Given the description of an element on the screen output the (x, y) to click on. 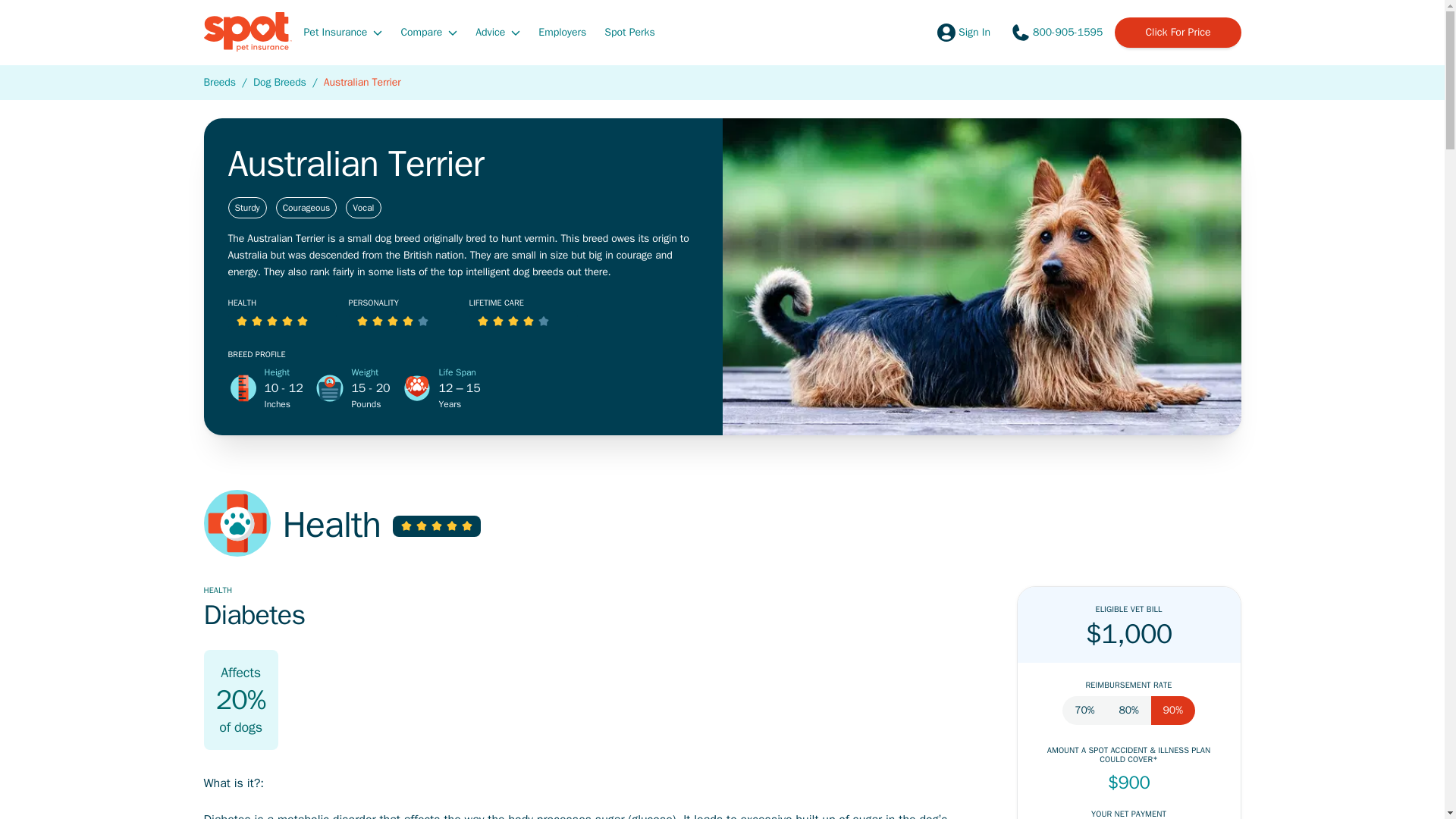
Dog Breeds (279, 82)
Breeds (218, 82)
Employers (562, 31)
Sign In (962, 31)
Click For Price (1177, 31)
800-905-1595 (1055, 31)
Sign in to the Member Center (962, 31)
Australian Terrier (362, 82)
Spot Perks (629, 31)
800-905-1595 (1055, 31)
